Given the description of an element on the screen output the (x, y) to click on. 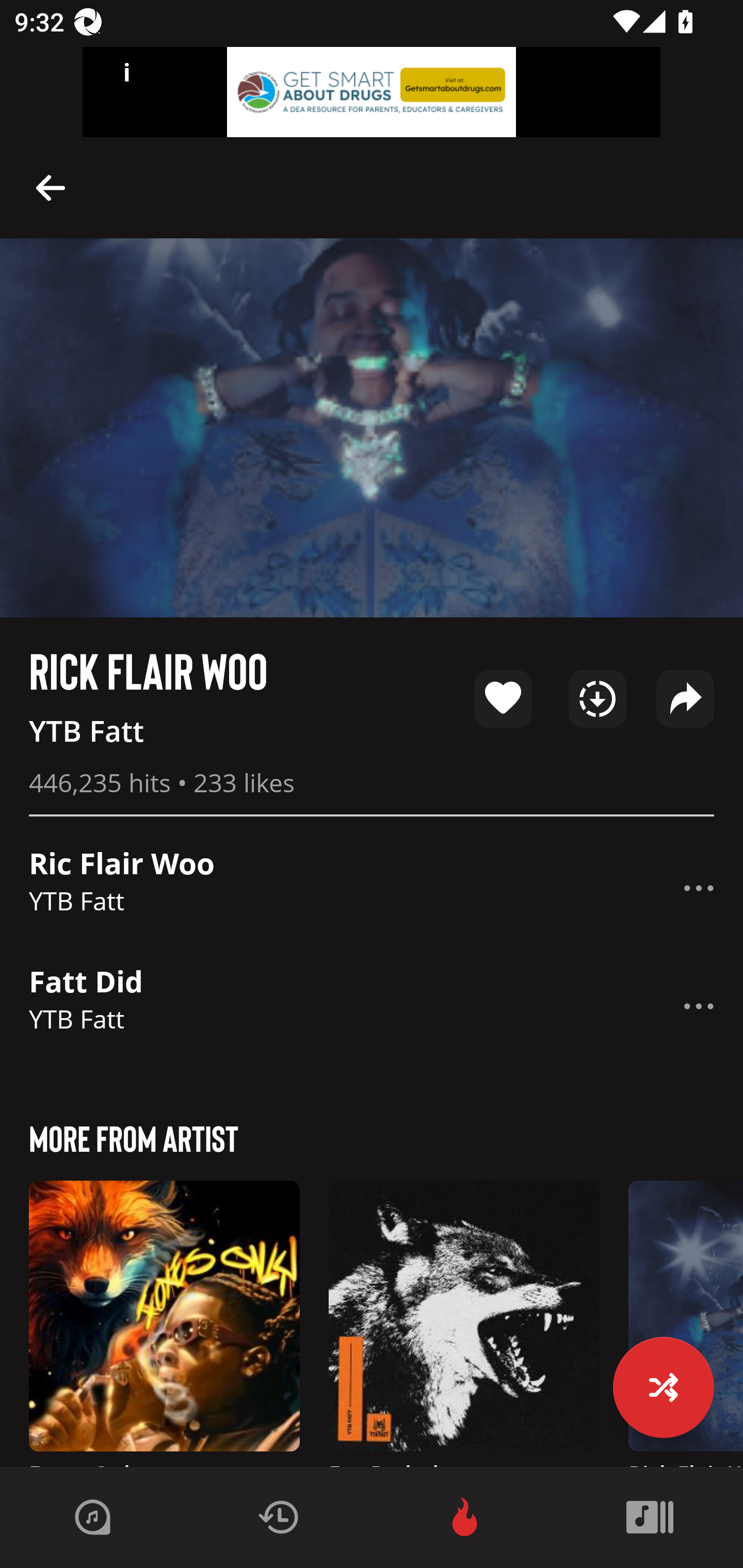
Description (50, 187)
Ric Flair Woo YTB Fatt Description (371, 888)
Description (698, 888)
Fatt Did YTB Fatt Description (371, 1005)
Description (698, 1005)
Description Foxes Only (164, 1323)
Description Fox Prelude (463, 1323)
